Given the description of an element on the screen output the (x, y) to click on. 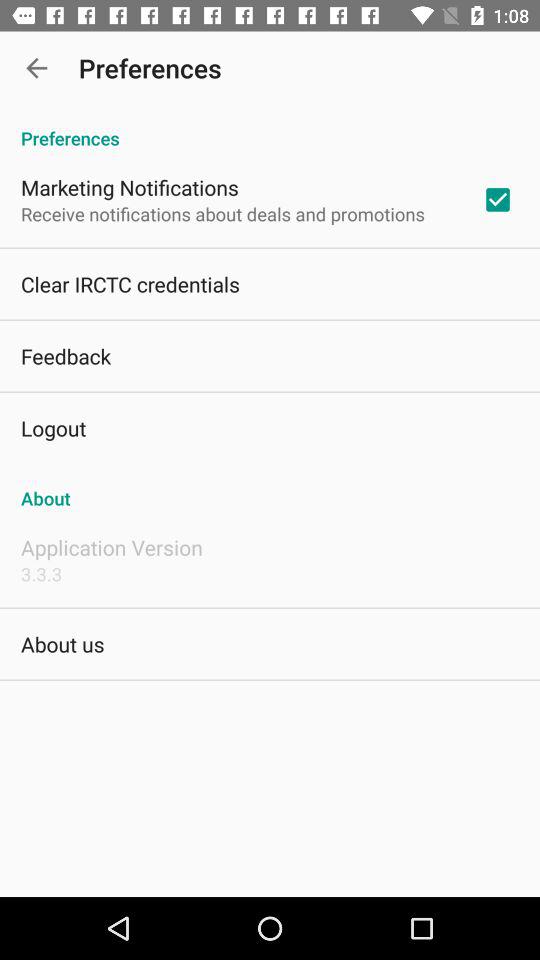
choose app above the about (497, 199)
